Given the description of an element on the screen output the (x, y) to click on. 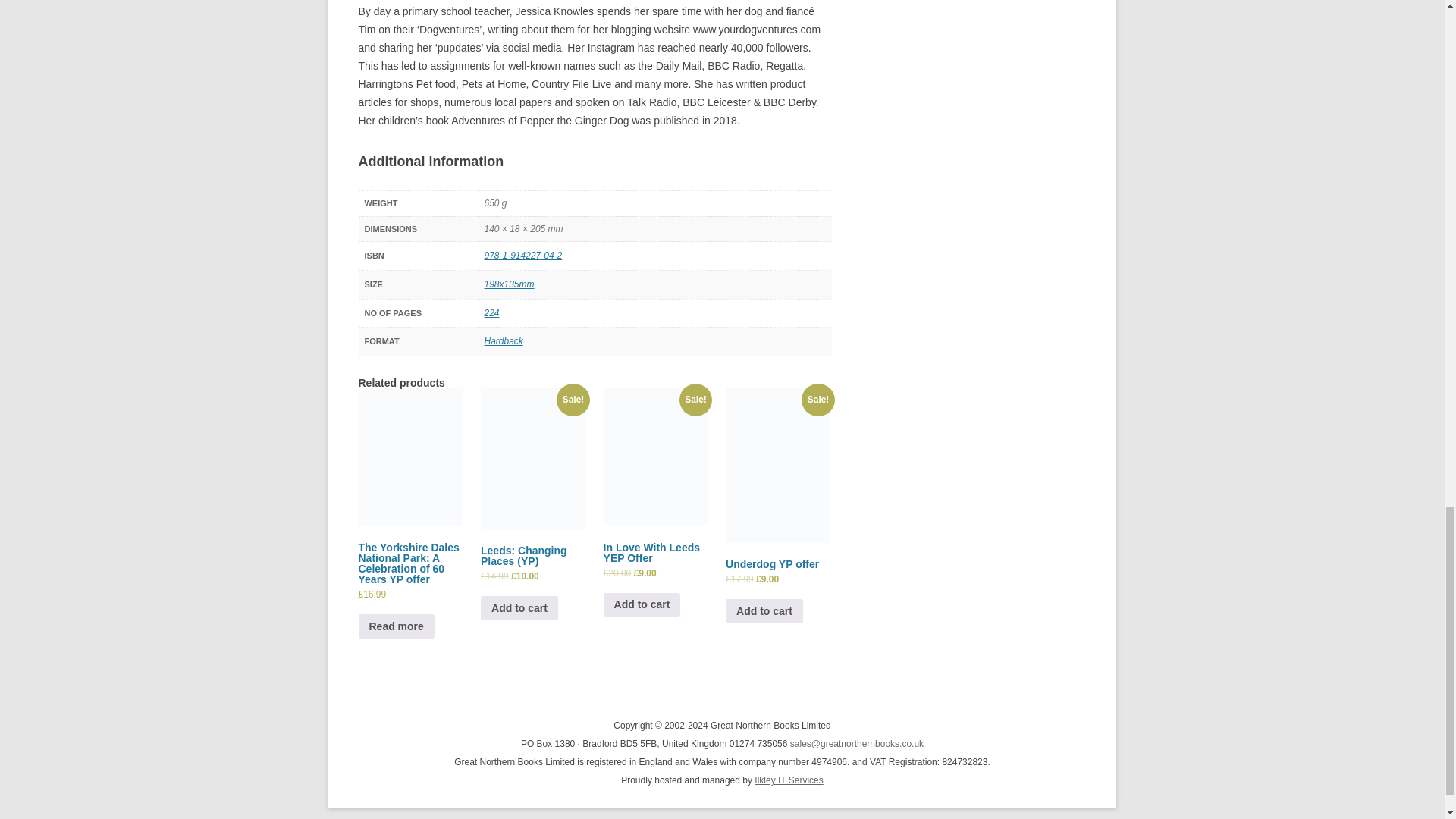
Ilkley Web Design (788, 779)
224 (491, 312)
Add to cart (764, 610)
Add to cart (642, 604)
Read more (395, 626)
978-1-914227-04-2 (522, 255)
198x135mm (508, 284)
Add to cart (518, 607)
Hardback (502, 340)
